Given the description of an element on the screen output the (x, y) to click on. 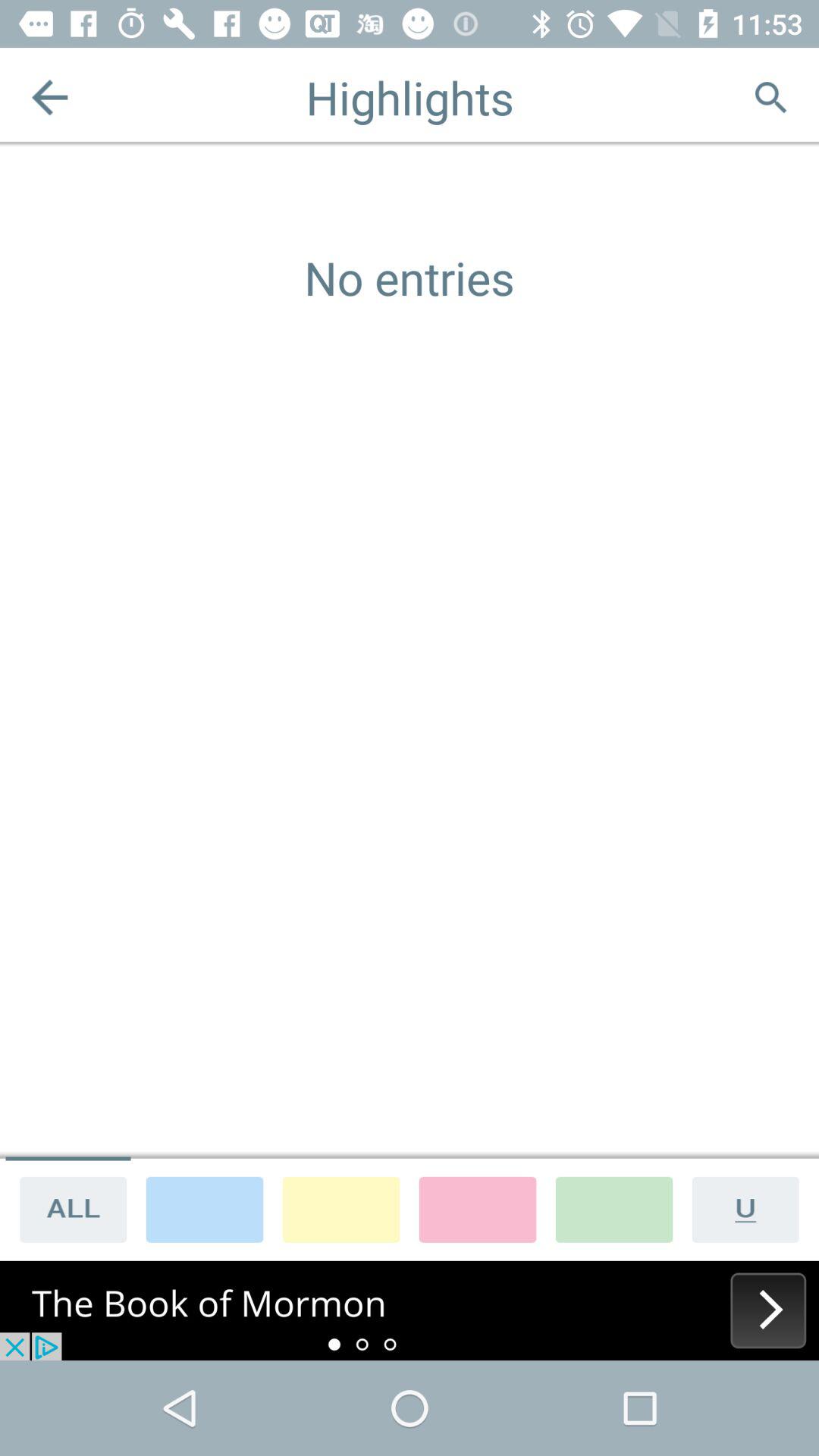
go to previous (49, 97)
